Given the description of an element on the screen output the (x, y) to click on. 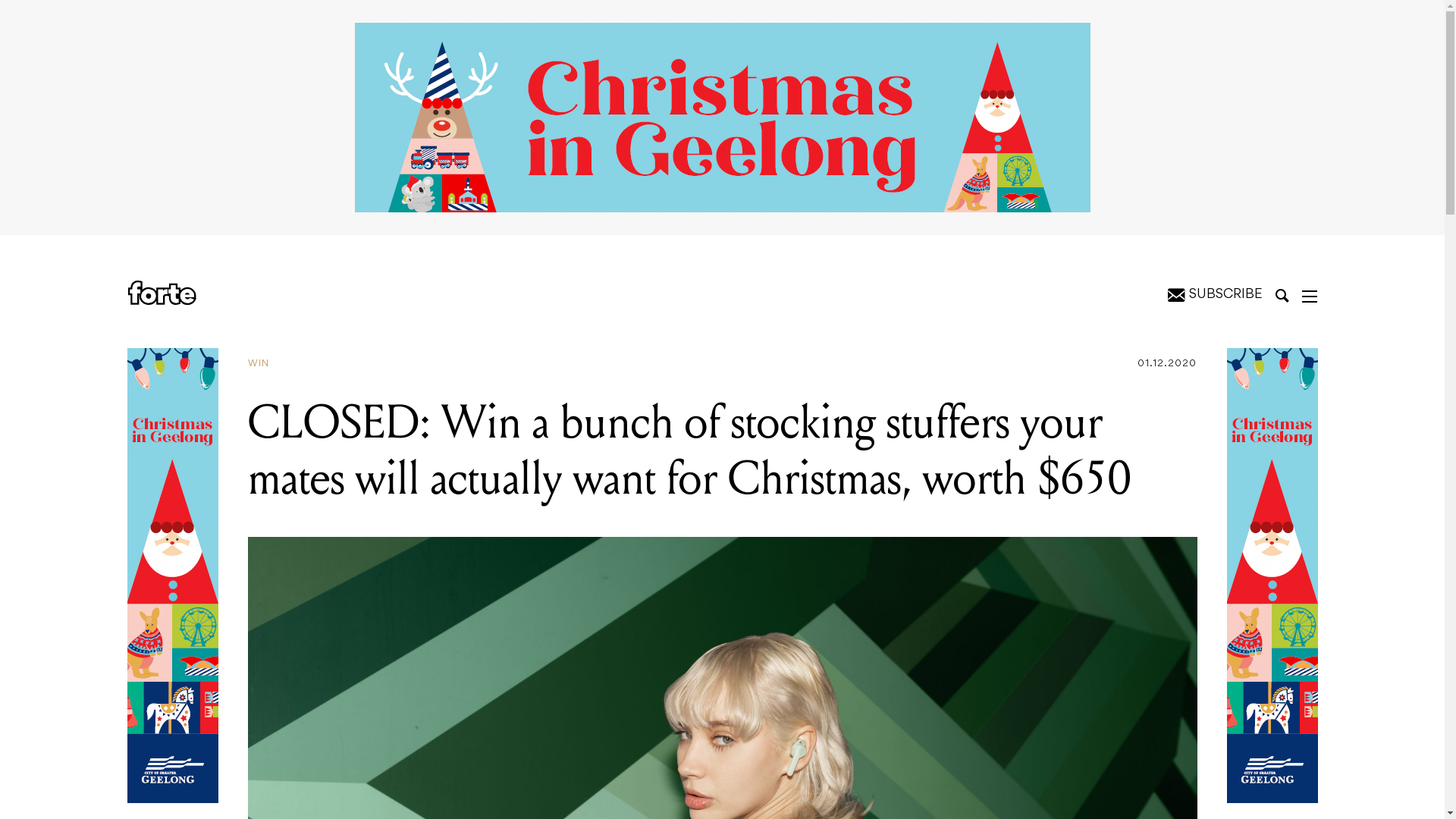
3rd party ad content Element type: hover (722, 117)
3rd party ad content Element type: hover (1271, 575)
WIN Element type: text (263, 364)
3rd party ad content Element type: hover (172, 575)
